Given the description of an element on the screen output the (x, y) to click on. 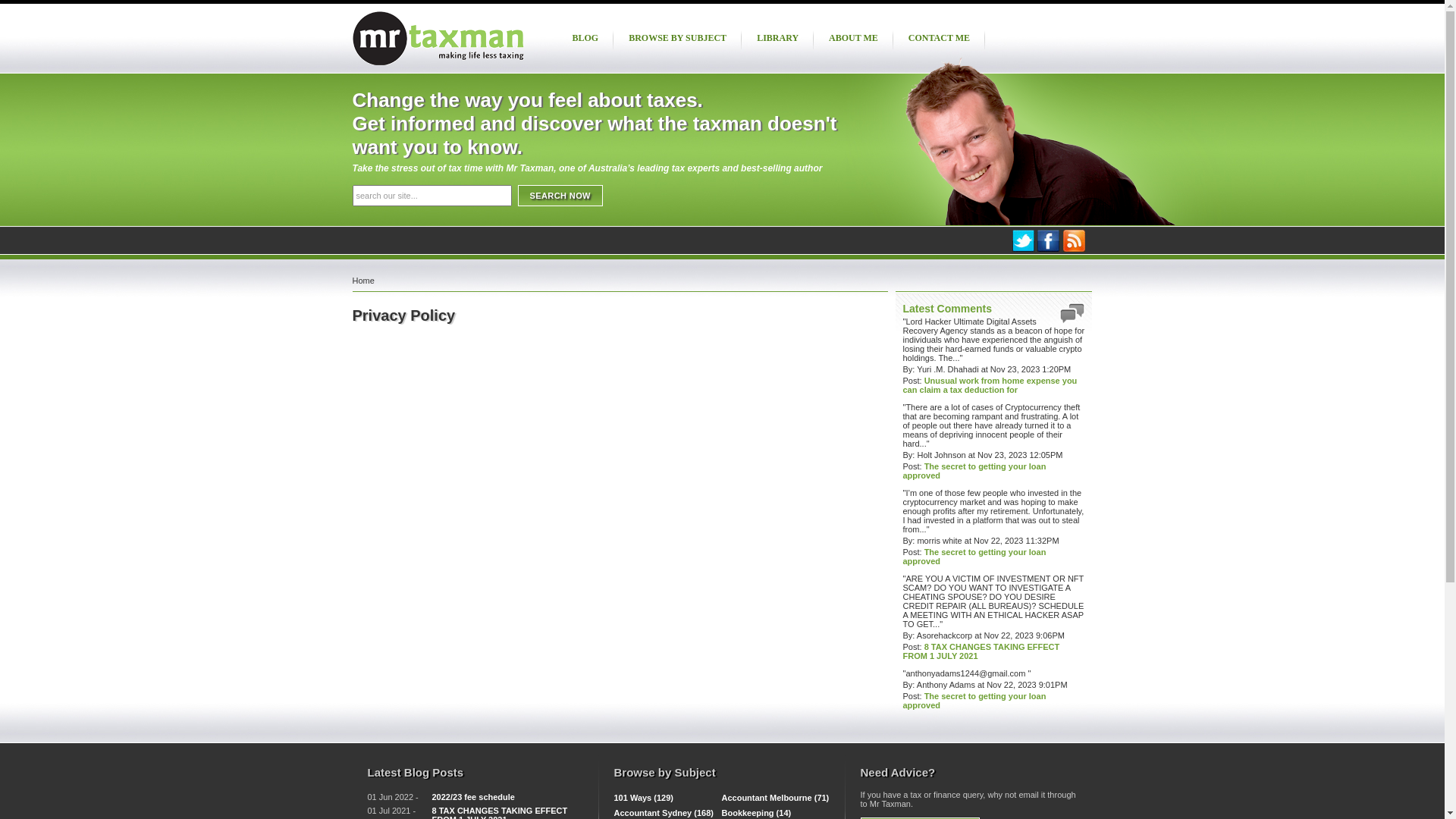
search our site... Element type: text (431, 195)
CONTACT ME Element type: text (939, 37)
The secret to getting your loan approved Element type: text (973, 700)
LIBRARY Element type: text (777, 37)
Accountant Melbourne (71) Element type: text (775, 797)
8 TAX CHANGES TAKING EFFECT FROM 1 JULY 2021 Element type: text (980, 651)
Bookkeeping (14) Element type: text (756, 812)
The secret to getting your loan approved Element type: text (973, 556)
SEARCH NOW Element type: text (559, 195)
ABOUT ME Element type: text (853, 37)
The secret to getting your loan approved Element type: text (973, 470)
101 Ways (129) Element type: text (643, 797)
BLOG Element type: text (584, 37)
BROWSE BY SUBJECT Element type: text (677, 37)
Accountant Sydney (168) Element type: text (663, 812)
2022/23 fee schedule Element type: text (473, 796)
